Given the description of an element on the screen output the (x, y) to click on. 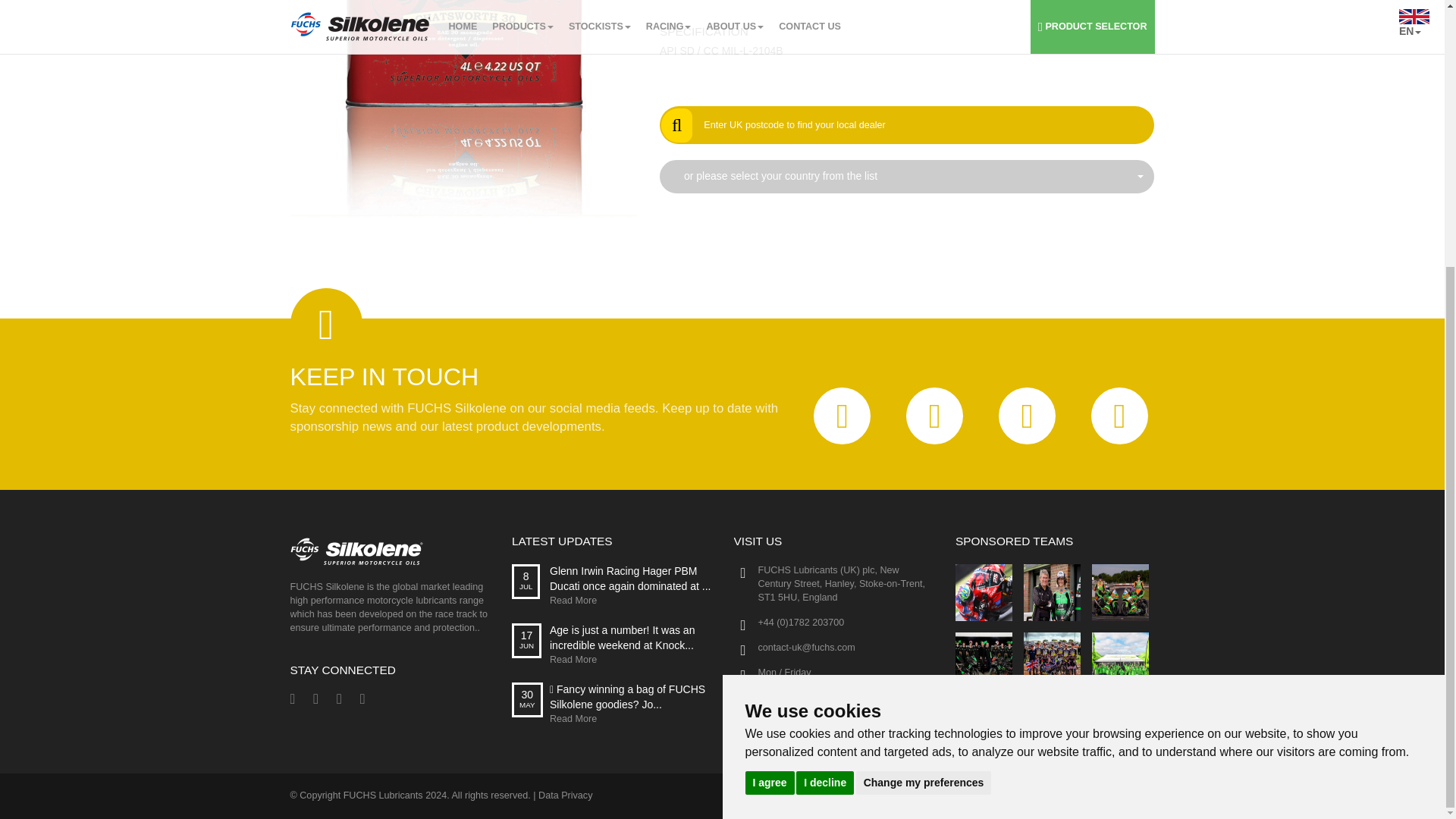
Change my preferences (923, 395)
I decline (824, 395)
I agree (768, 395)
